Given the description of an element on the screen output the (x, y) to click on. 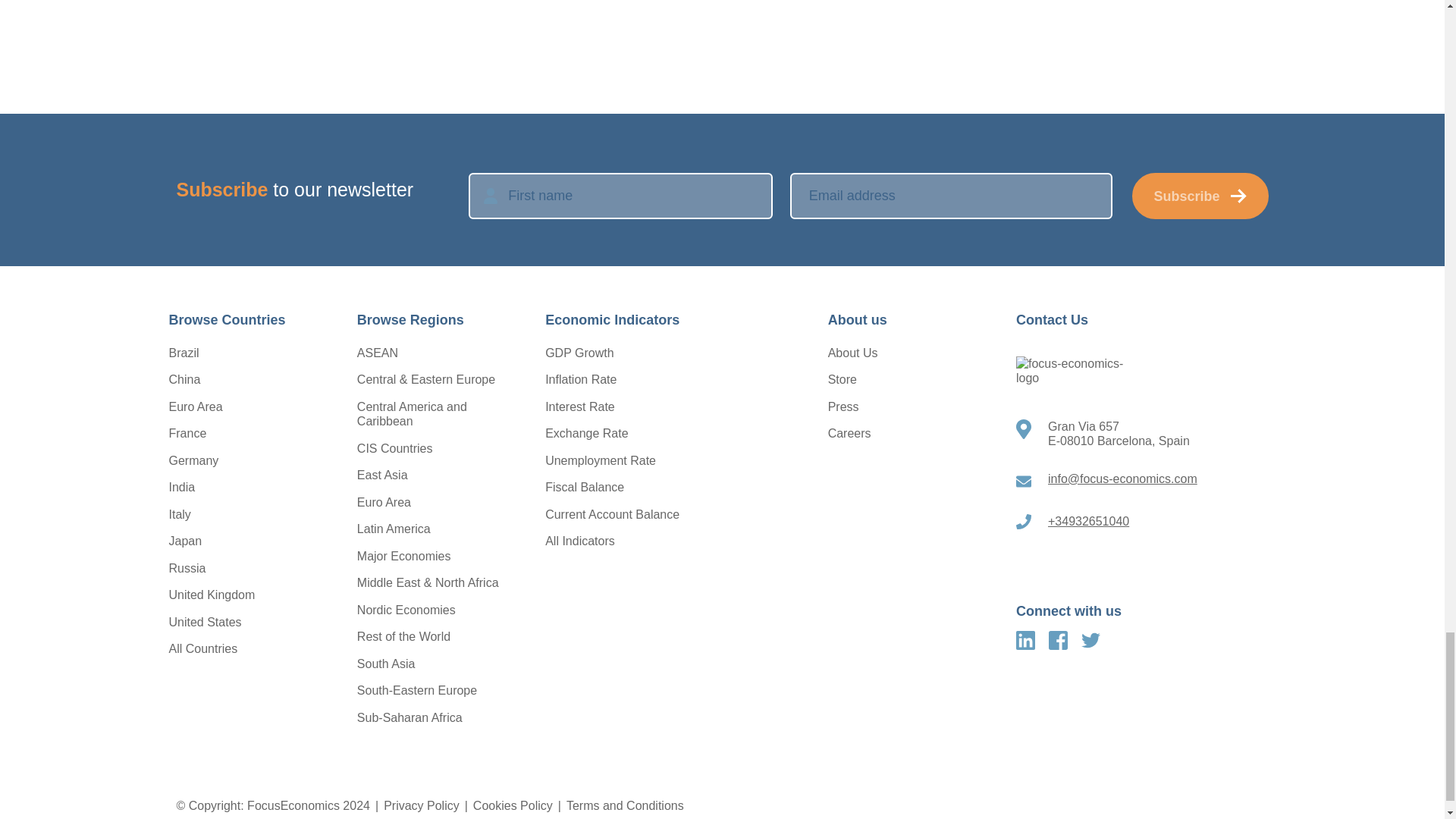
Subscribe (1200, 195)
